Given the description of an element on the screen output the (x, y) to click on. 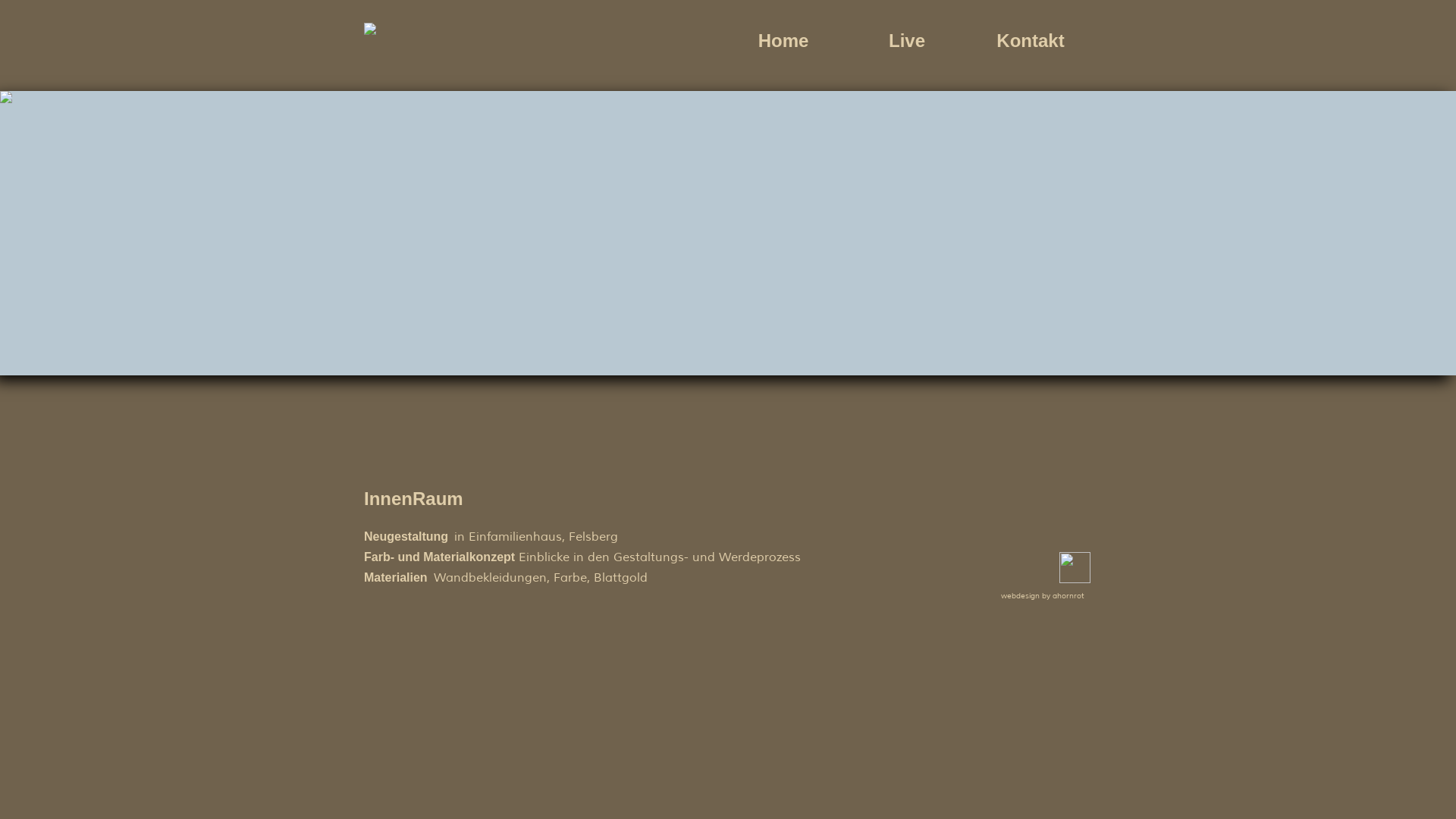
webdesign by ahornrot Element type: text (1042, 595)
